Given the description of an element on the screen output the (x, y) to click on. 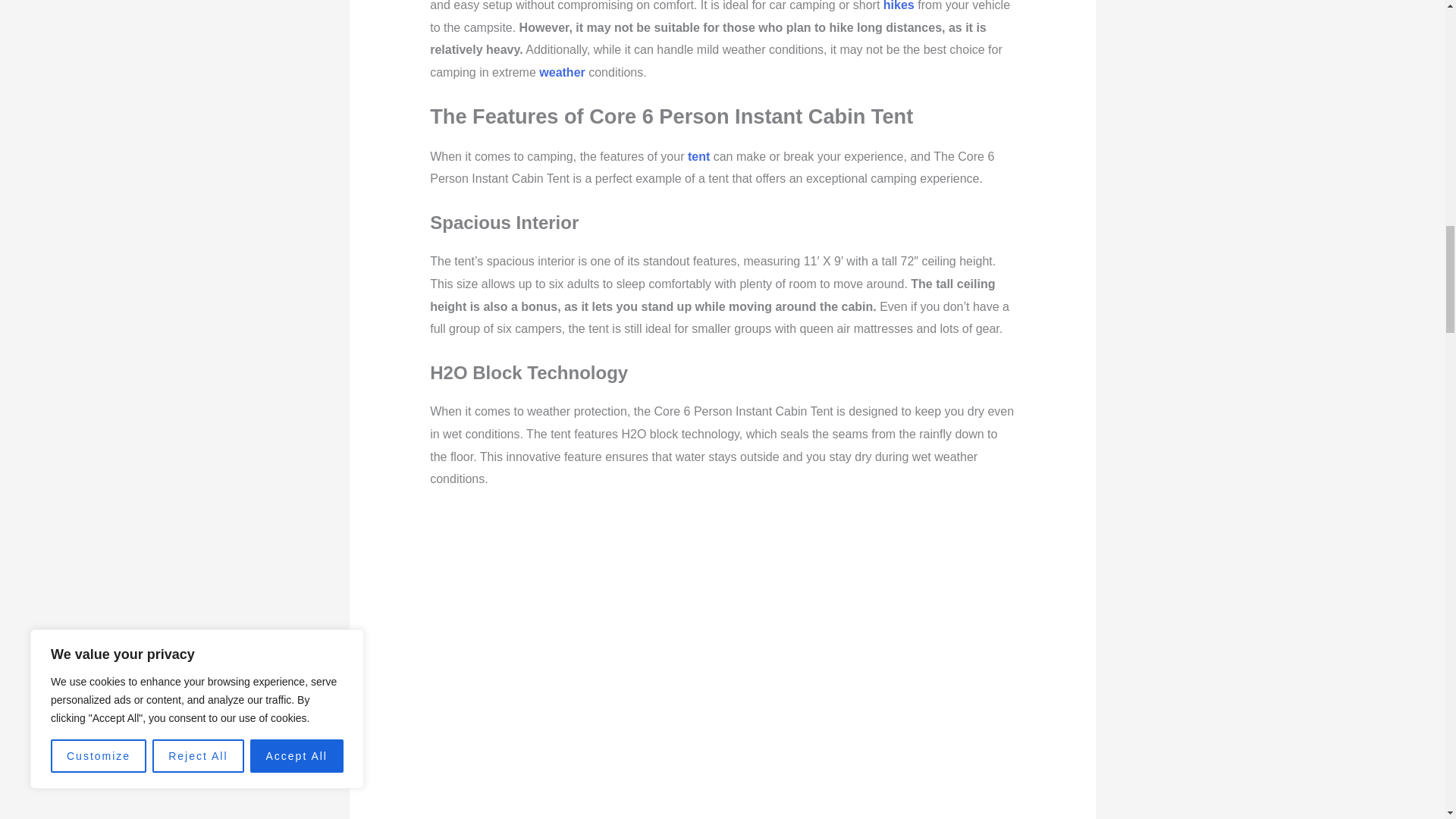
tent (698, 155)
weather (561, 72)
hikes (898, 5)
